Given the description of an element on the screen output the (x, y) to click on. 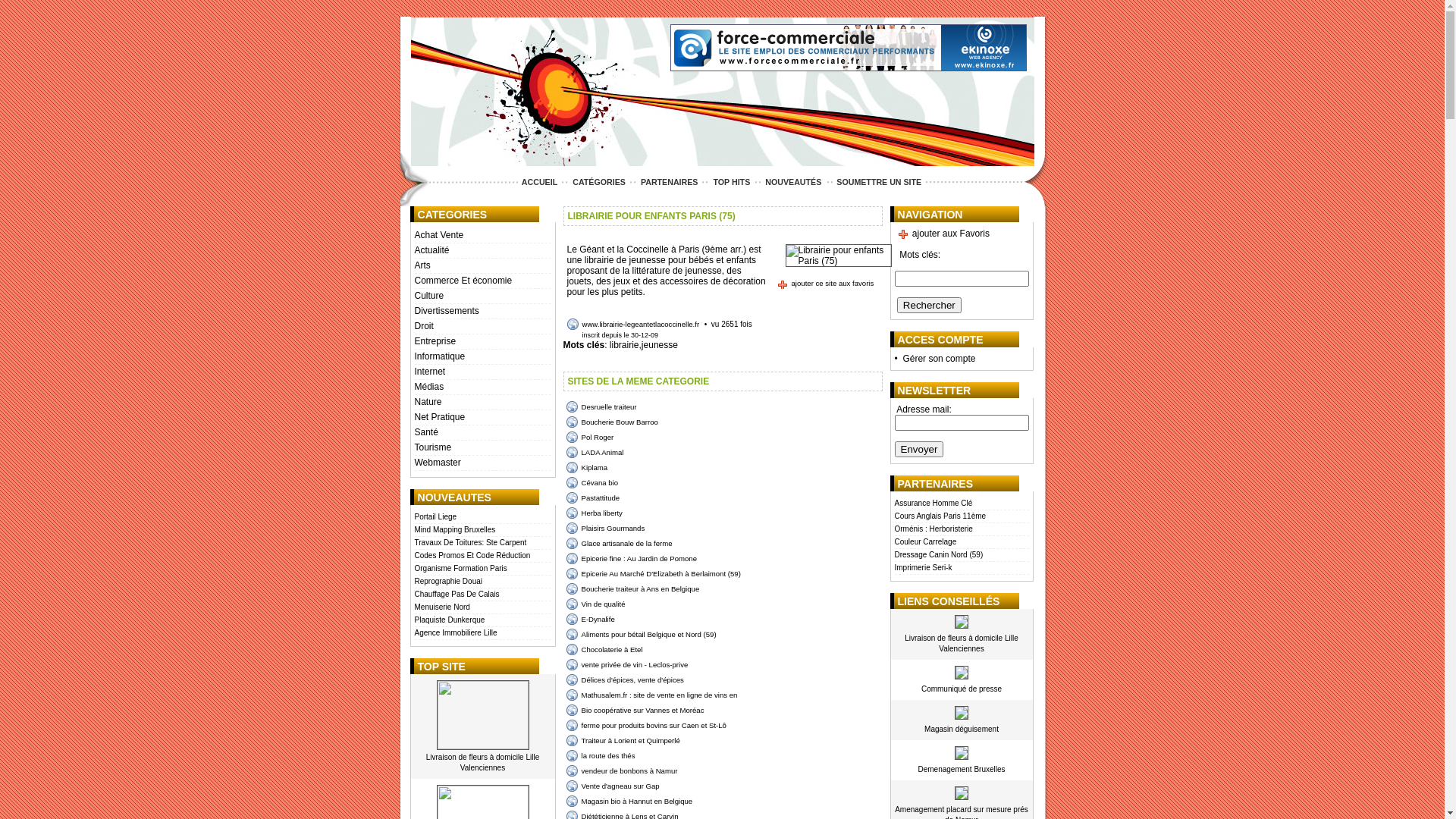
Desruelle traiteur Element type: text (600, 406)
Herba liberty Element type: text (593, 512)
Informatique Element type: text (482, 356)
Kiplama Element type: text (586, 467)
Imprimerie Seri-k Element type: text (961, 567)
Chauffage Pas De Calais Element type: text (482, 594)
ACCUEIL Element type: text (539, 181)
Net Pratique Element type: text (482, 417)
Droit Element type: text (482, 326)
Travaux De Toitures: Ste Carpent Element type: text (482, 542)
Envoyer Element type: text (919, 449)
PARTENAIRES Element type: text (669, 181)
Entreprise Element type: text (482, 341)
Divertissements Element type: text (482, 311)
Couleur Carrelage Element type: text (961, 542)
Mind Mapping Bruxelles Element type: text (482, 530)
Culture Element type: text (482, 296)
Dressage Canin Nord (59) Element type: text (961, 555)
LADA Animal Element type: text (594, 452)
Agence Immobiliere Lille Element type: text (482, 633)
Demenagement Bruxelles Element type: text (960, 769)
Epicerie fine : Au Jardin de Pomone Element type: text (630, 558)
Organisme Formation Paris Element type: text (482, 568)
Portail Liege Element type: text (482, 517)
Tourisme Element type: text (482, 447)
Webmaster Element type: text (482, 462)
Vente d'agneau sur Gap Element type: text (611, 785)
Glace artisanale de la ferme Element type: text (618, 543)
ajouter ce site aux favoris Element type: text (825, 283)
Plaquiste Dunkerque Element type: text (482, 620)
www.librairie-legeantetlacoccinelle.fr Element type: text (633, 323)
LIBRAIRIE POUR ENFANTS PARIS (75) Element type: text (650, 215)
Librairie pour enfants Paris (75) Element type: hover (838, 255)
Mathusalem.fr : site de vente en ligne de vins en Element type: text (651, 694)
TOP HITS Element type: text (731, 181)
Rechercher Element type: text (929, 305)
Menuiserie Nord Element type: text (482, 607)
Internet Element type: text (482, 371)
Reprographie Douai Element type: text (482, 581)
E-Dynalife Element type: text (589, 618)
ajouter aux Favoris Element type: text (943, 234)
Pastattitude Element type: text (592, 497)
Nature Element type: text (482, 402)
SOUMETTRE UN SITE Element type: text (878, 181)
Boucherie Bouw Barroo Element type: text (611, 421)
Arts Element type: text (482, 265)
Pol Roger Element type: text (589, 436)
Plaisirs Gourmands Element type: text (604, 527)
Achat Vente Element type: text (482, 235)
